Given the description of an element on the screen output the (x, y) to click on. 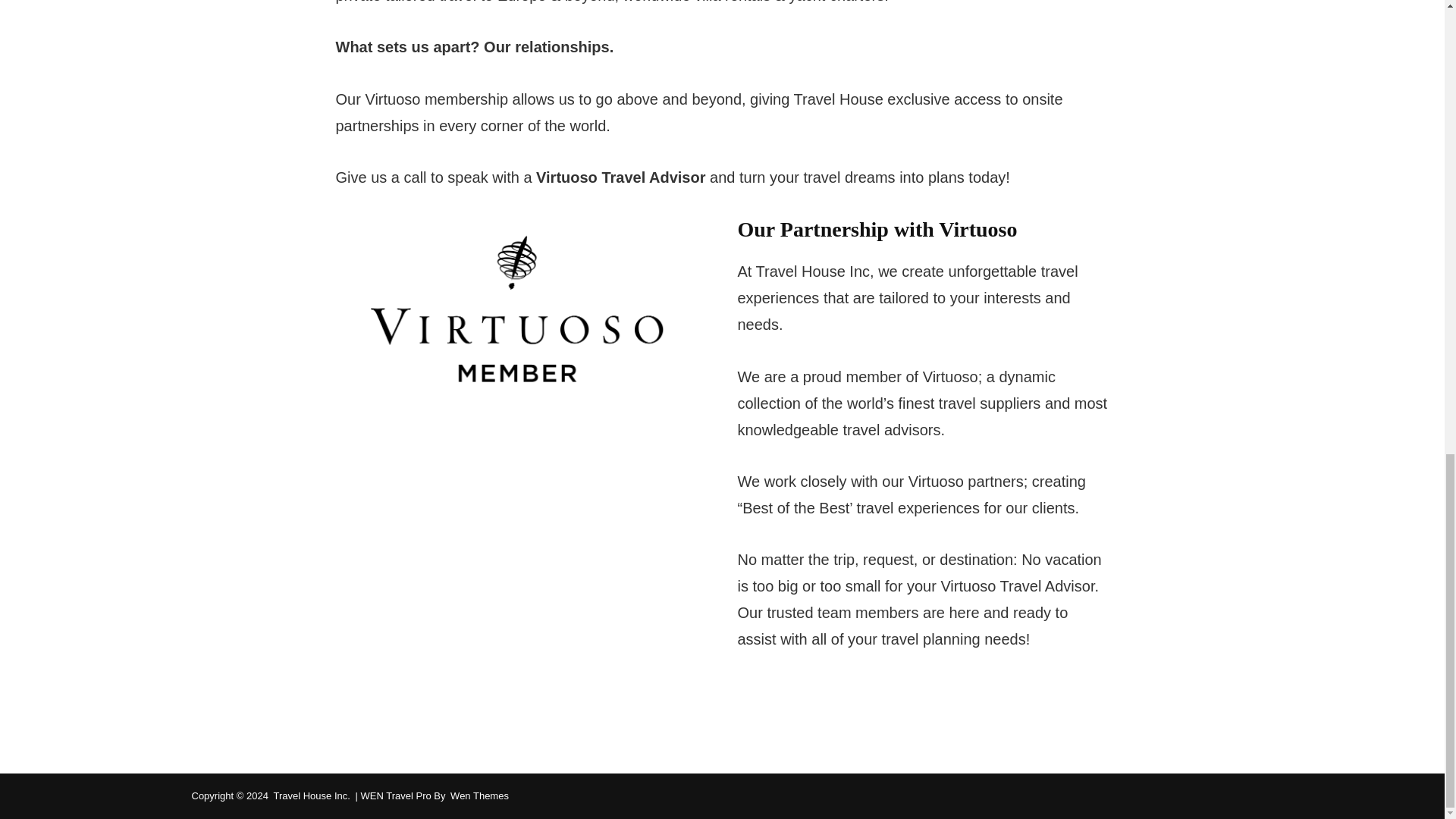
Wen Themes (478, 795)
Travel House Inc. (311, 795)
